Given the description of an element on the screen output the (x, y) to click on. 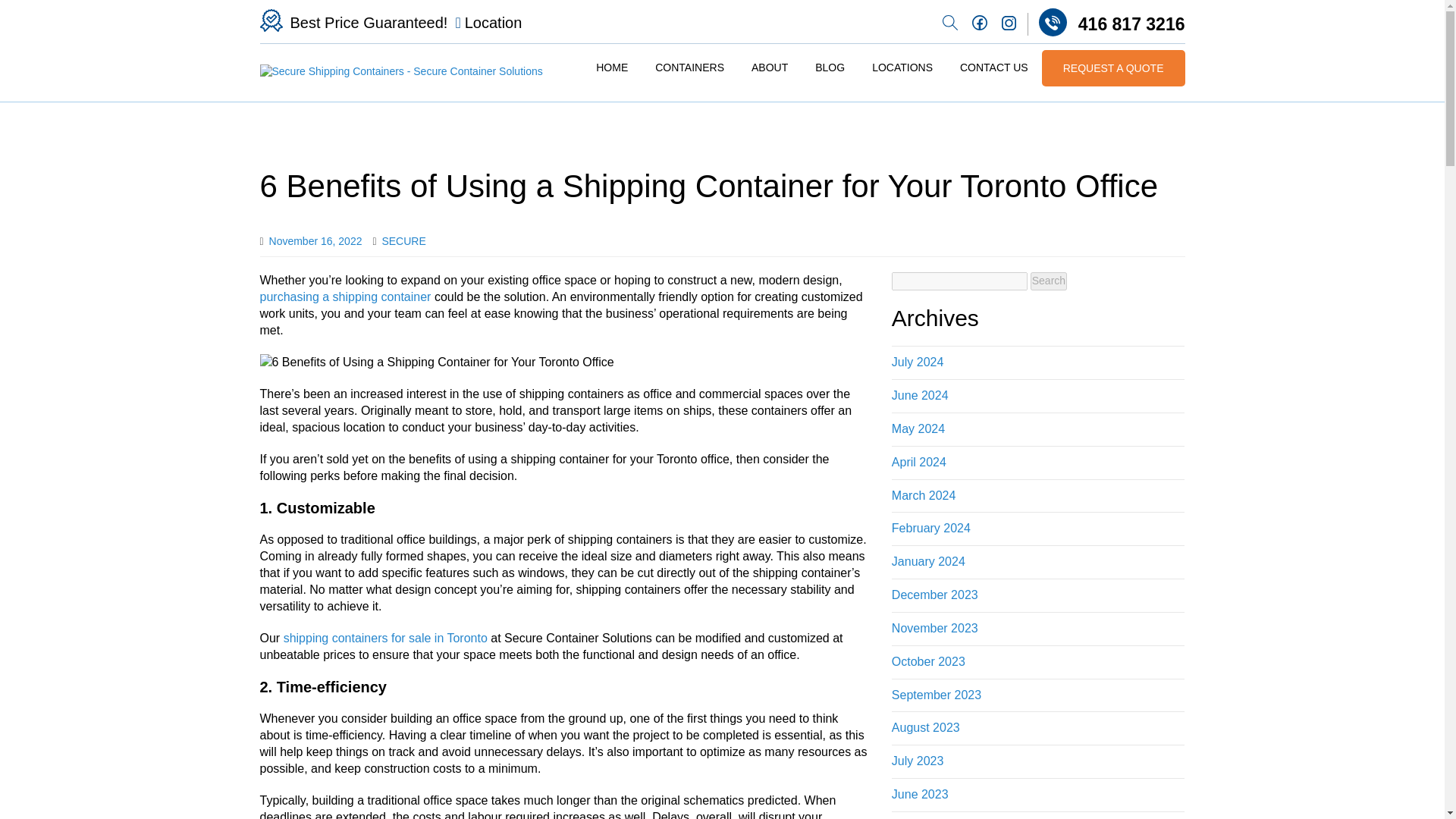
LOCATIONS (902, 68)
CONTAINERS (689, 68)
Secure Shipping Containers - Secure Container Solutions (400, 70)
HOME (611, 68)
Search (1048, 280)
ABOUT (769, 68)
BLOG (829, 68)
416 817 3216 (1106, 22)
